Given the description of an element on the screen output the (x, y) to click on. 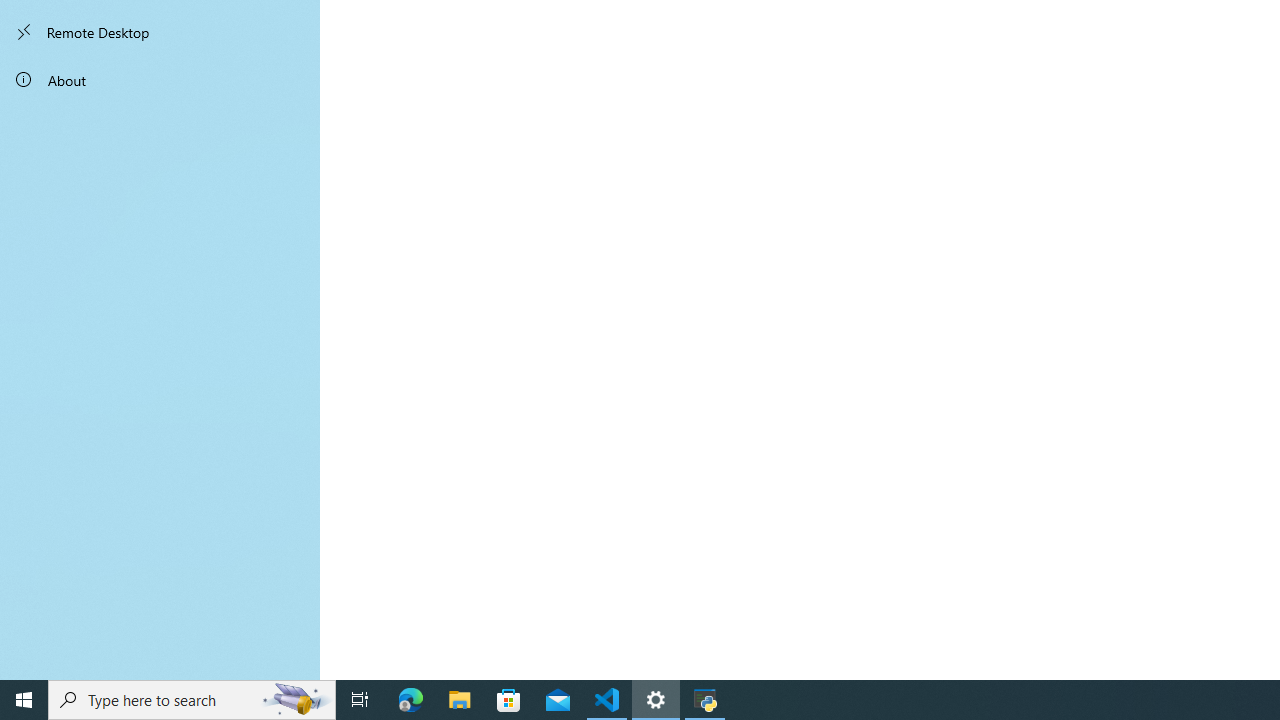
About (160, 79)
Remote Desktop (160, 31)
